Given the description of an element on the screen output the (x, y) to click on. 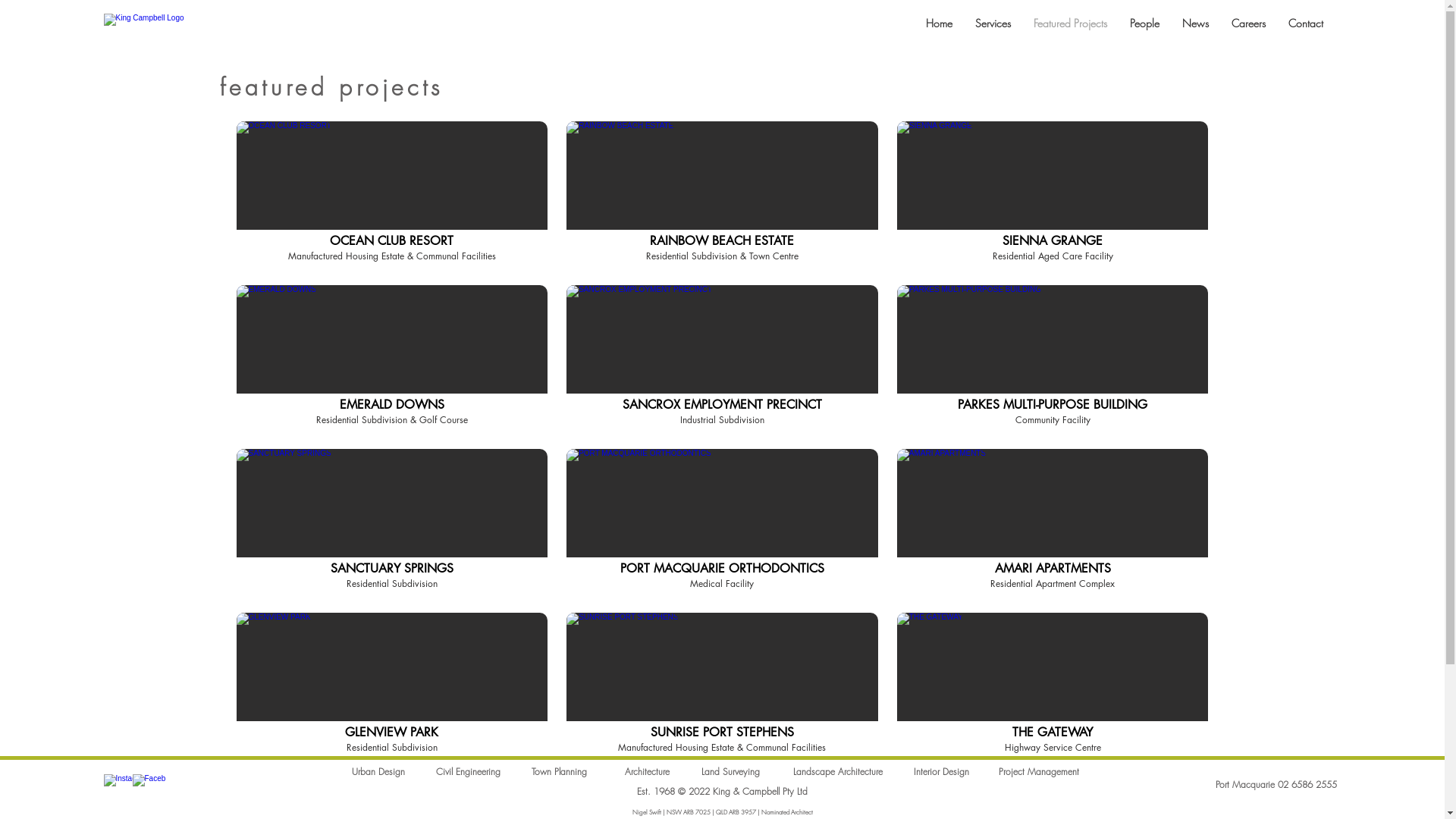
Interior Design Element type: text (940, 771)
Civil Engineering Element type: text (467, 771)
PARKES MULTI-PURPOSE BUILDING
Community Facility Element type: text (1052, 357)
People Element type: text (1143, 22)
SIENNA GRANGE
Residential Aged Care Facility Element type: text (1052, 193)
SANCTUARY SPRINGS
Residential Subdivision Element type: text (392, 520)
Featured Projects Element type: text (1070, 22)
EMERALD DOWNS
Residential Subdivision & Golf Course Element type: text (392, 357)
Architecture Element type: text (646, 771)
Landscape Architecture Element type: text (837, 771)
THE GATEWAY
Highway Service Centre Element type: text (1052, 684)
Town Planning Element type: text (558, 771)
Land Surveying Element type: text (729, 771)
Home Element type: text (938, 22)
PORT MACQUARIE ORTHODONTICS
Medical Facility Element type: text (722, 520)
Urban Design Element type: text (377, 771)
Port Macquarie 02 6586 2555 Element type: text (1275, 784)
SANCROX EMPLOYMENT PRECINCT
Industrial Subdivision Element type: text (722, 357)
Contact Element type: text (1305, 22)
AMARI APARTMENTS
Residential Apartment Complex Element type: text (1052, 520)
GLENVIEW PARK
Residential Subdivision Element type: text (392, 684)
Careers Element type: text (1247, 22)
RAINBOW BEACH ESTATE
Residential Subdivision & Town Centre Element type: text (722, 193)
Services Element type: text (992, 22)
Project Management Element type: text (1037, 771)
News Element type: text (1195, 22)
